Given the description of an element on the screen output the (x, y) to click on. 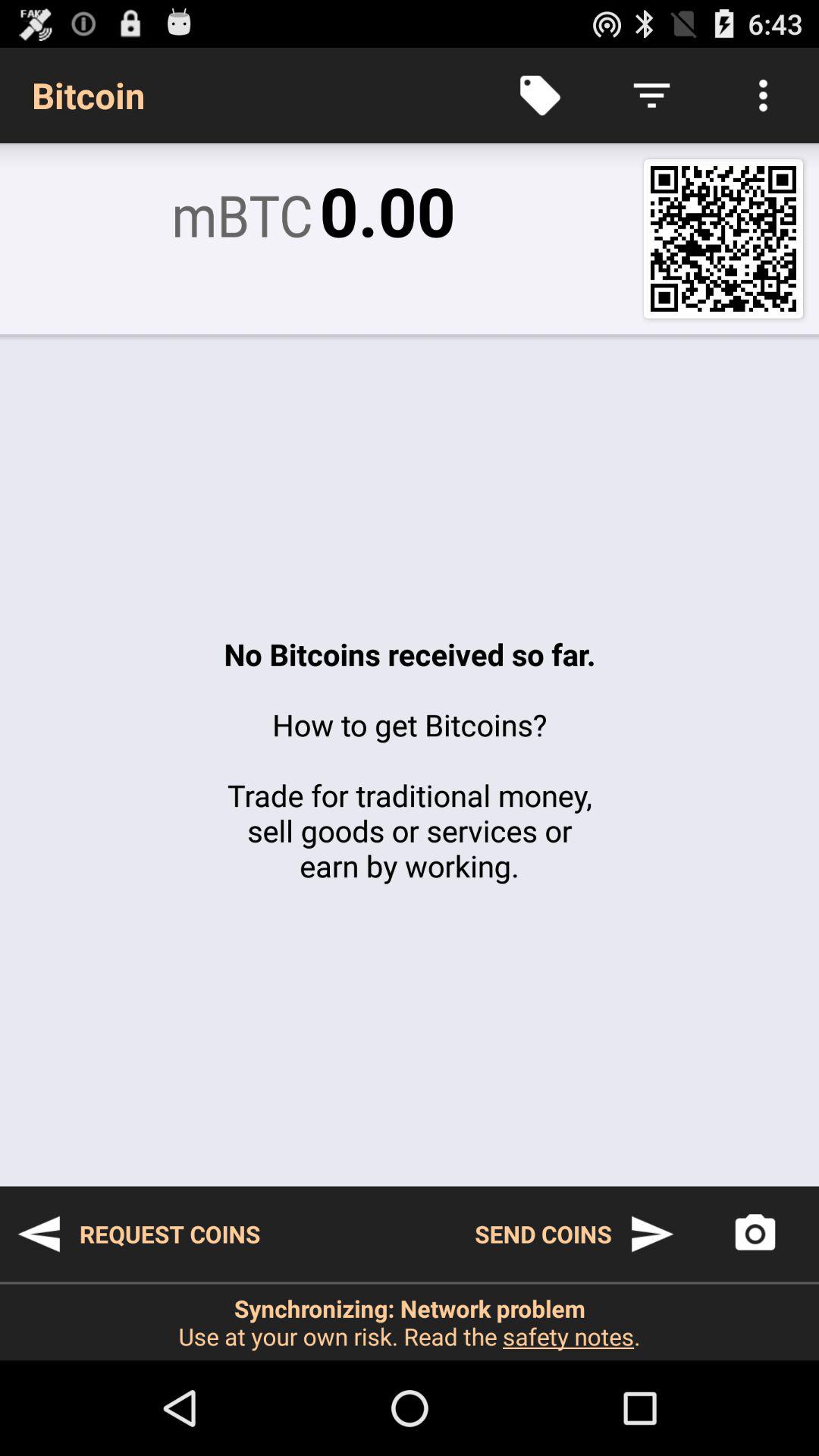
choose the icon at the bottom (409, 1322)
